Given the description of an element on the screen output the (x, y) to click on. 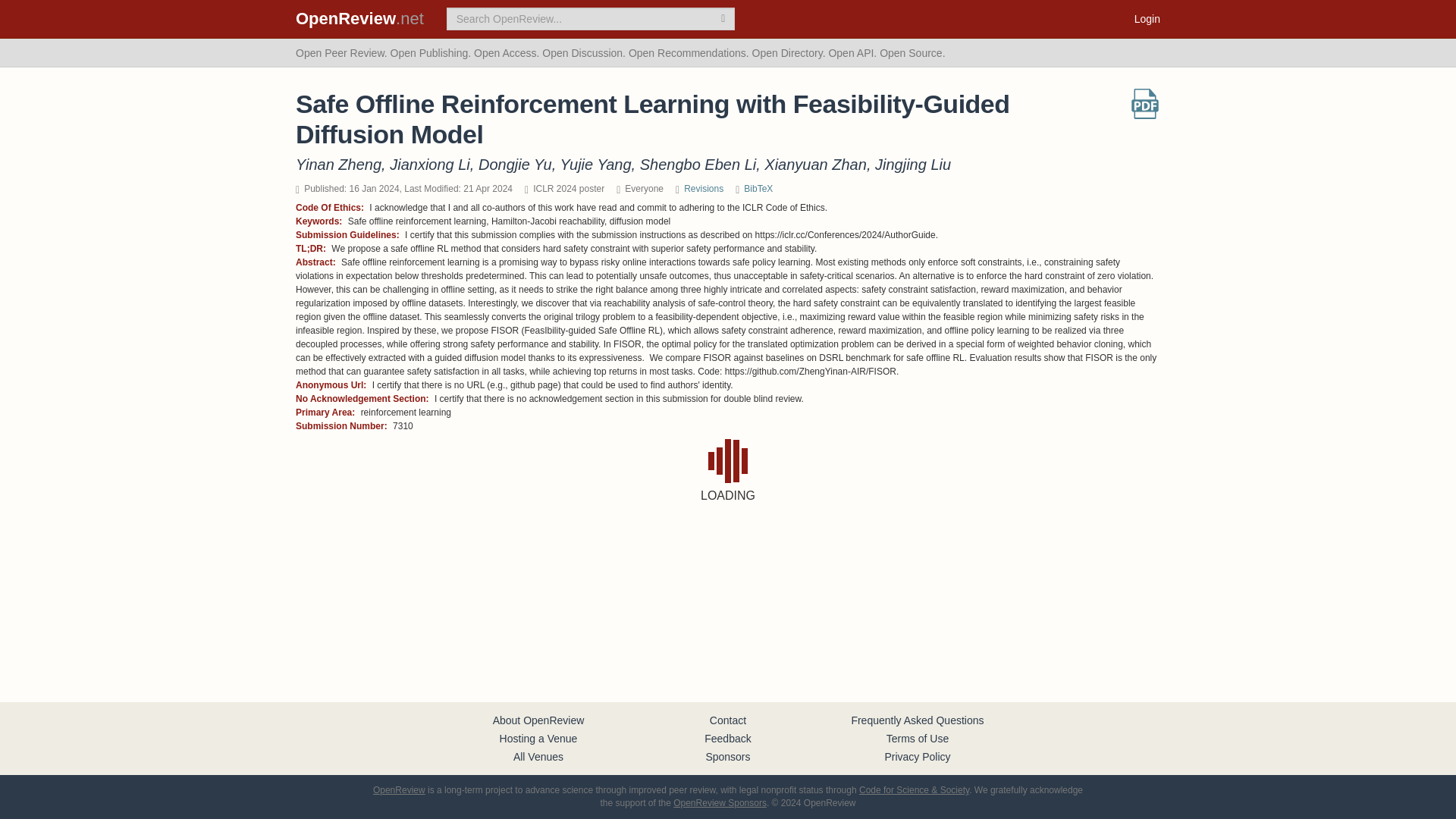
Jianxiong Li (430, 164)
Yinan Zheng (338, 164)
Hosting a Venue (538, 738)
Yujie Yang (594, 164)
OpenReview Sponsors (719, 802)
OpenReview.net (359, 18)
Jingjing Liu (912, 164)
Revisions (703, 188)
Frequently Asked Questions (917, 720)
Login (1147, 18)
